Given the description of an element on the screen output the (x, y) to click on. 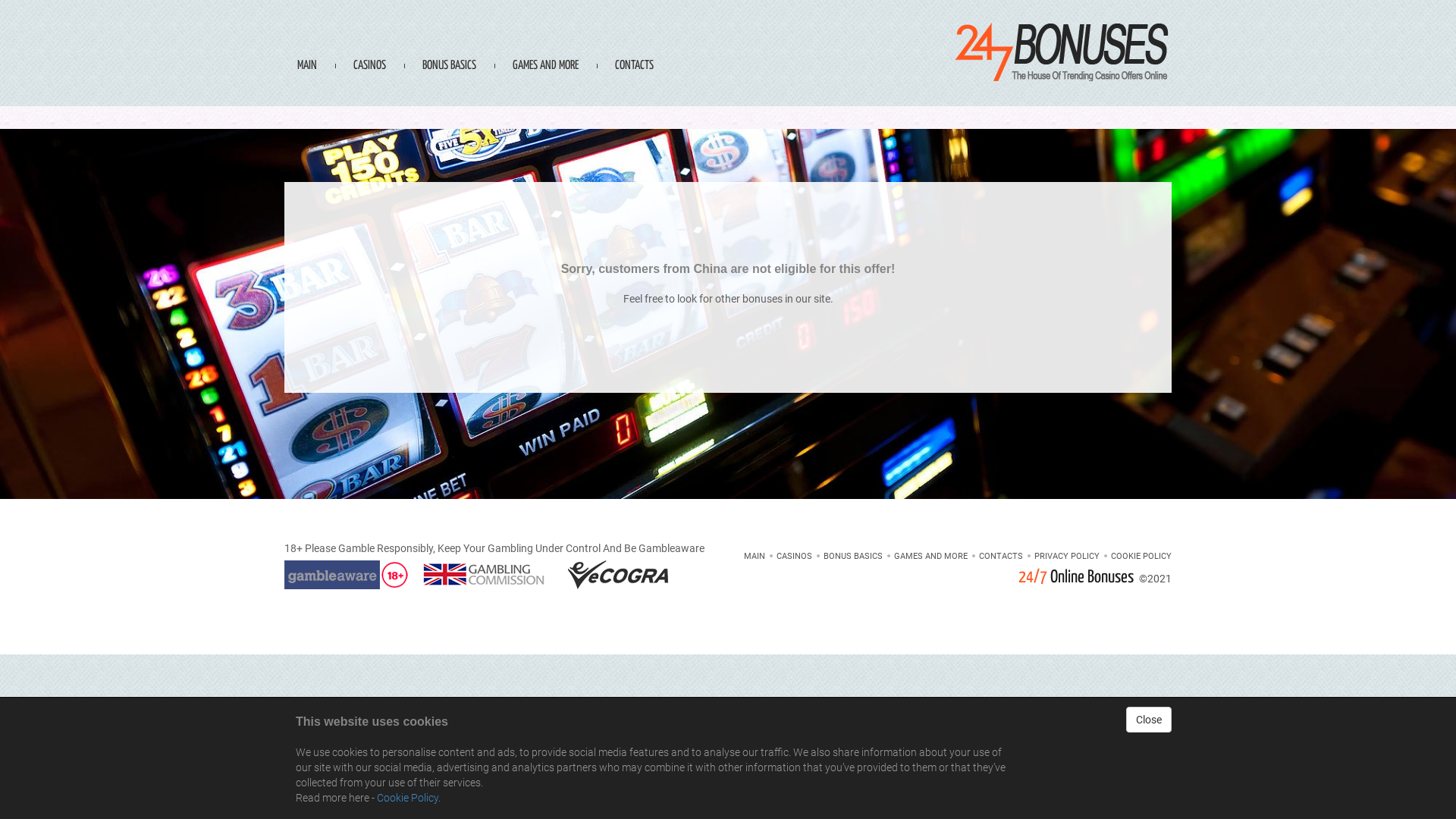
BONUS BASICS Element type: text (449, 40)
MAIN Element type: text (306, 40)
CASINOS Element type: text (794, 556)
COOKIE POLICY Element type: text (1140, 556)
CONTACTS Element type: text (634, 40)
BONUS BASICS Element type: text (852, 556)
Close Element type: text (1148, 719)
MAIN Element type: text (754, 556)
PRIVACY POLICY Element type: text (1066, 556)
Cookie Policy Element type: text (407, 797)
CASINOS Element type: text (369, 40)
GAMES AND MORE Element type: text (545, 40)
CONTACTS Element type: text (1000, 556)
GAMES AND MORE Element type: text (930, 556)
